Given the description of an element on the screen output the (x, y) to click on. 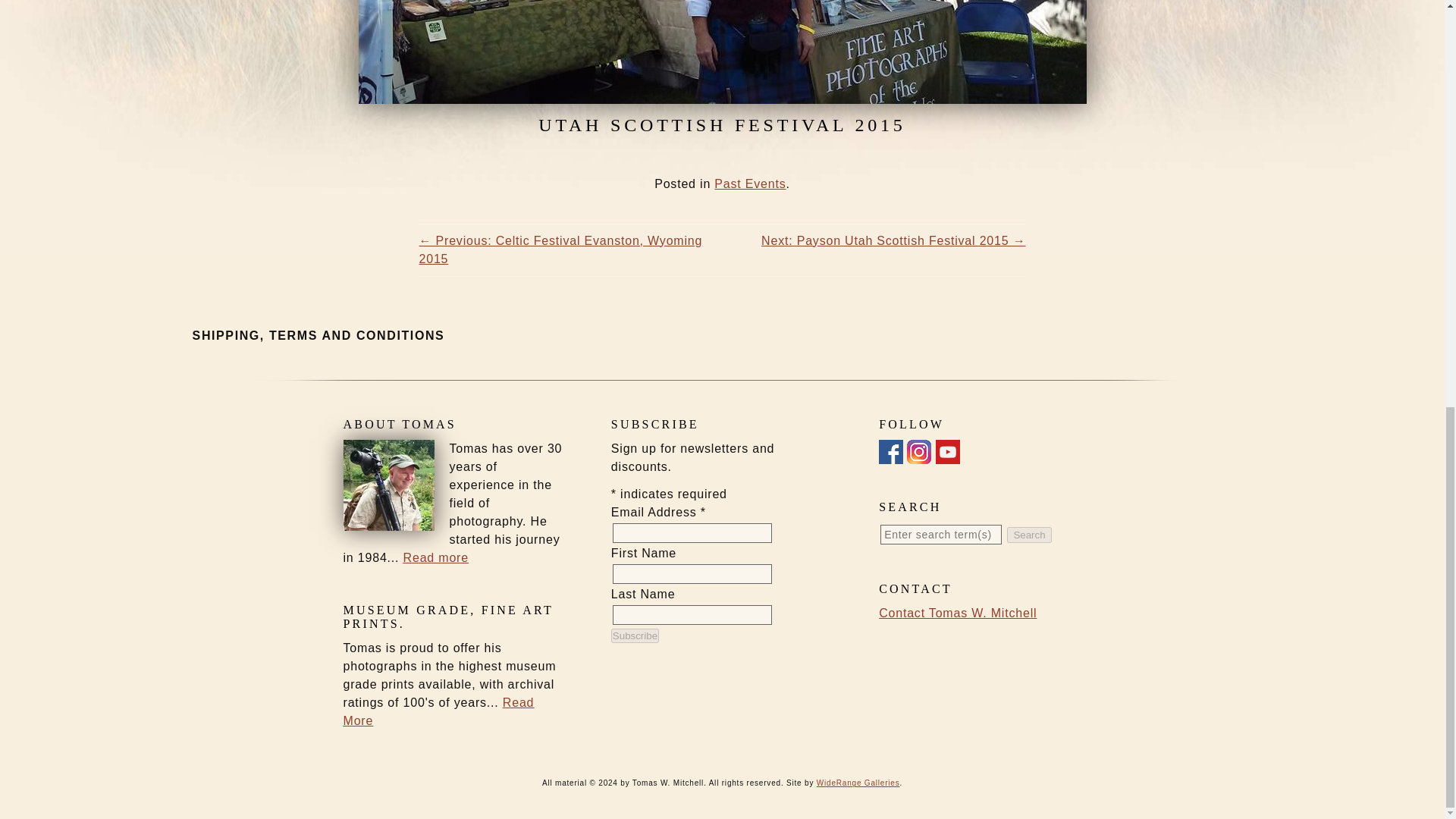
Utah Scottish Festival 2015 (722, 52)
Subscribe (635, 635)
Read More (438, 711)
Follow on YouTube (947, 454)
Past Events (750, 183)
Contact Tomas W. Mitchell (957, 612)
WideRange Galleries (857, 782)
Follow on Facebook (890, 454)
Follow on Instagram (919, 454)
Search (1029, 534)
